Given the description of an element on the screen output the (x, y) to click on. 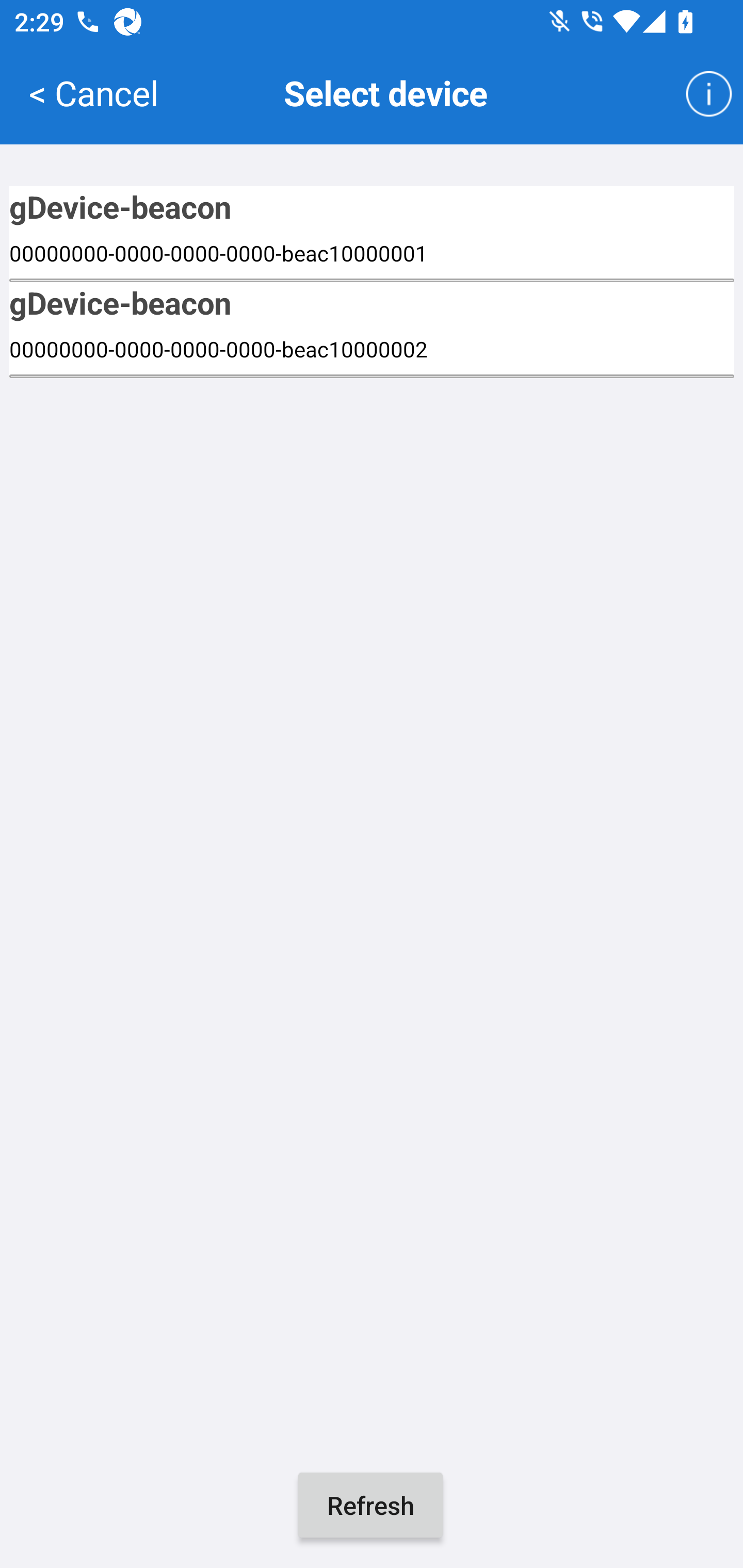
< Cancel (93, 92)
Refresh (370, 1505)
